Given the description of an element on the screen output the (x, y) to click on. 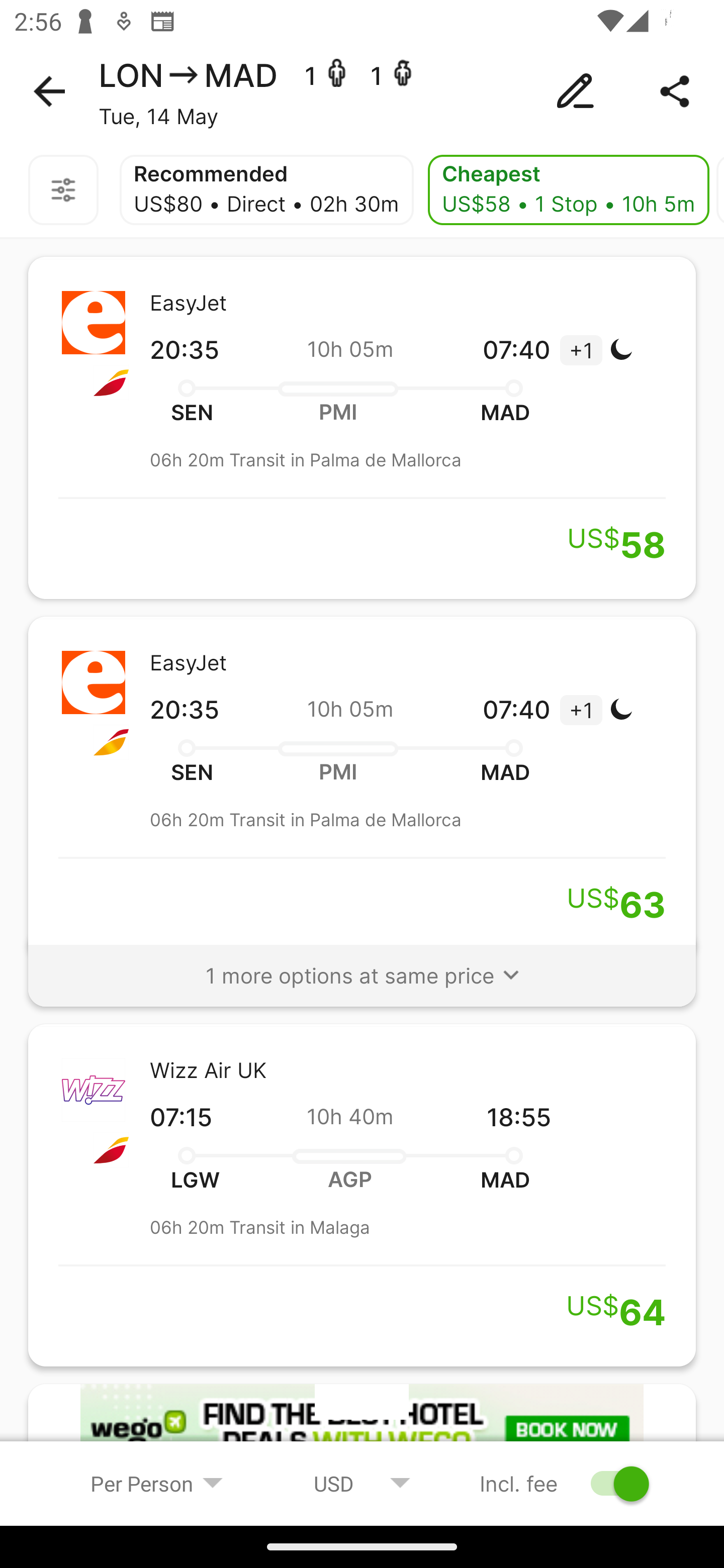
LON MAD   1 -   1 - Tue, 14 May (361, 91)
Recommended  US$80 • Direct • 02h 30m (266, 190)
Cheapest US$58 • 1 Stop • 10h 5m (568, 190)
1 more options at same price (361, 966)
Per Person (156, 1482)
USD (361, 1482)
